Given the description of an element on the screen output the (x, y) to click on. 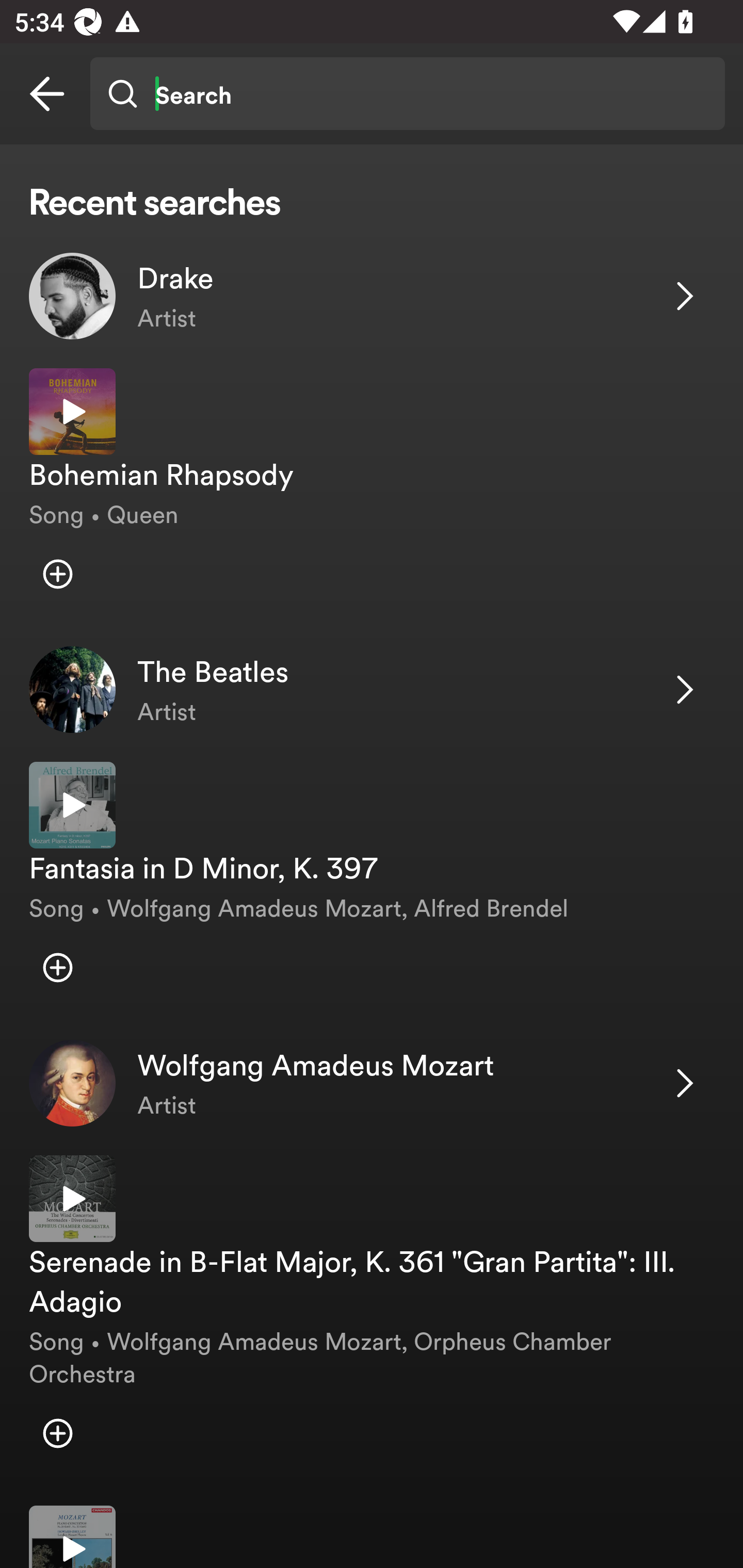
Back (46, 93)
Search (407, 94)
Drake Artist (371, 296)
Play preview (71, 411)
Add item (57, 573)
The Beatles Artist (371, 689)
Play preview (71, 805)
Add item (57, 967)
Wolfgang Amadeus Mozart Artist (371, 1083)
Play preview (71, 1198)
Add item (57, 1433)
Play preview (71, 1536)
